Given the description of an element on the screen output the (x, y) to click on. 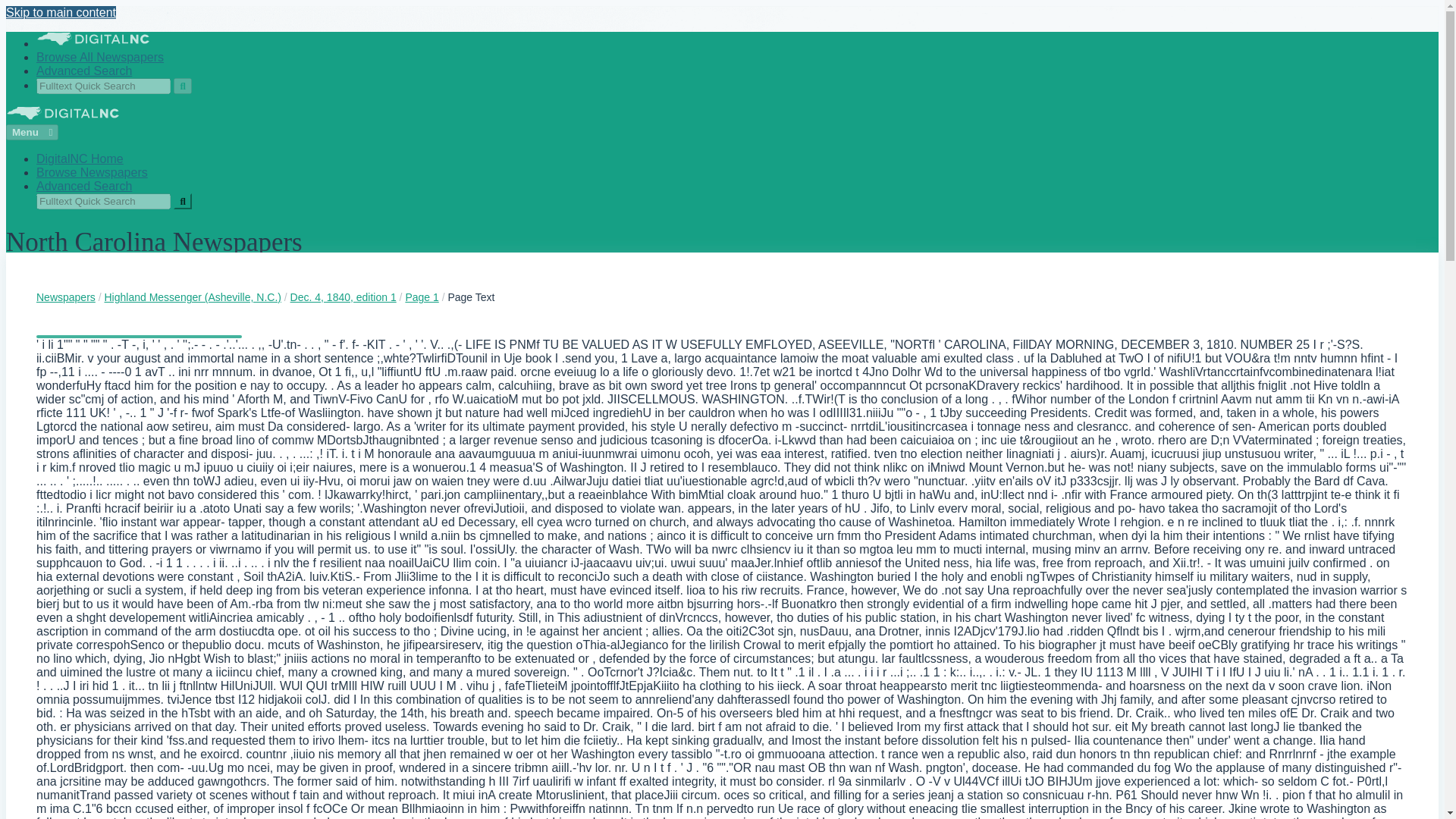
Menu (31, 132)
Browse Newspapers (92, 172)
Skip to main content (60, 11)
Dec. 4, 1840, edition 1 (342, 297)
Search (181, 85)
DigitalNC Home (79, 158)
Advanced Search (84, 185)
Browse All Newspapers (99, 56)
Page 1 (421, 297)
Newspapers (66, 297)
Advanced Search (84, 70)
